Given the description of an element on the screen output the (x, y) to click on. 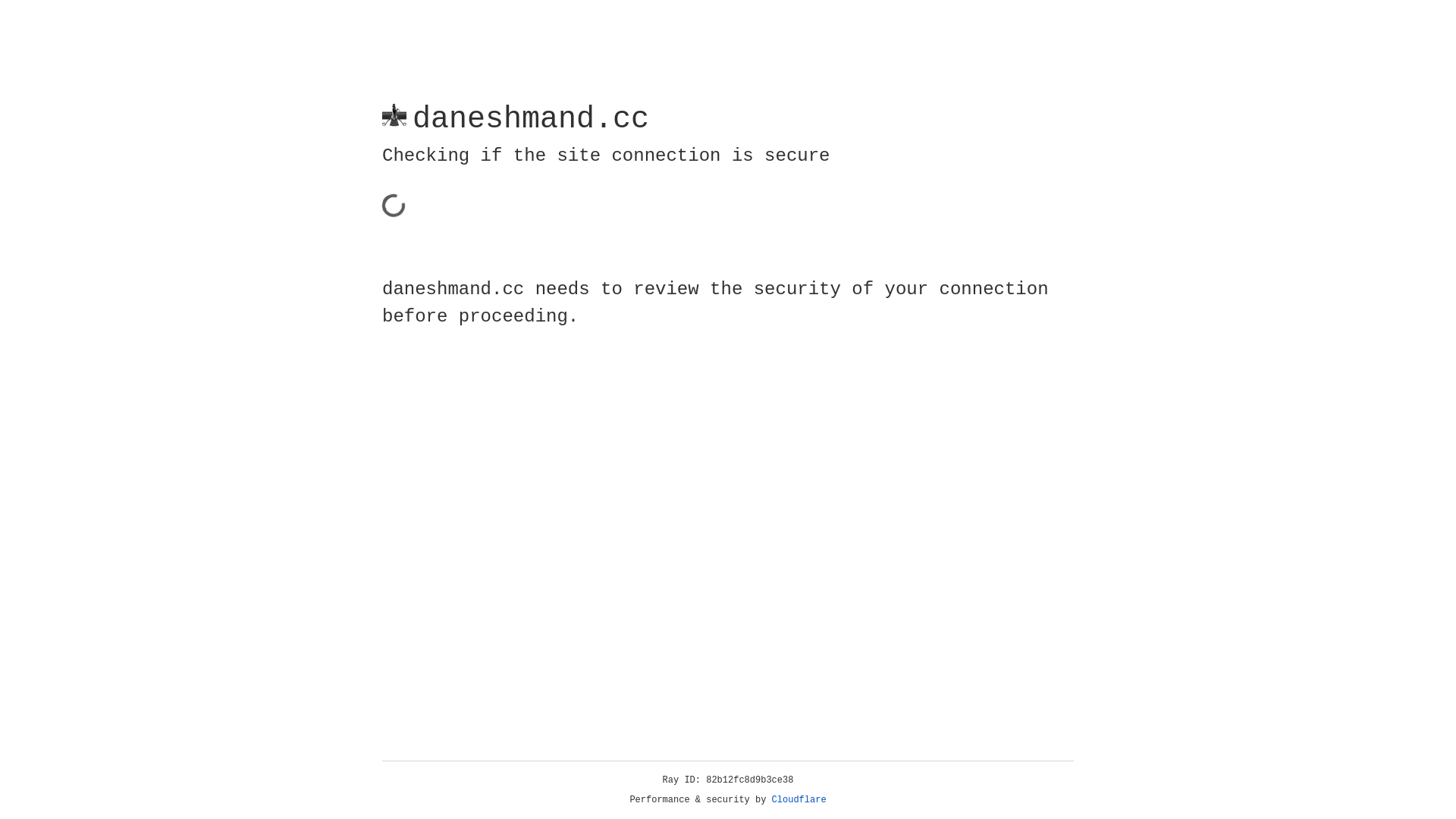
Cloudflare Element type: text (798, 799)
